Given the description of an element on the screen output the (x, y) to click on. 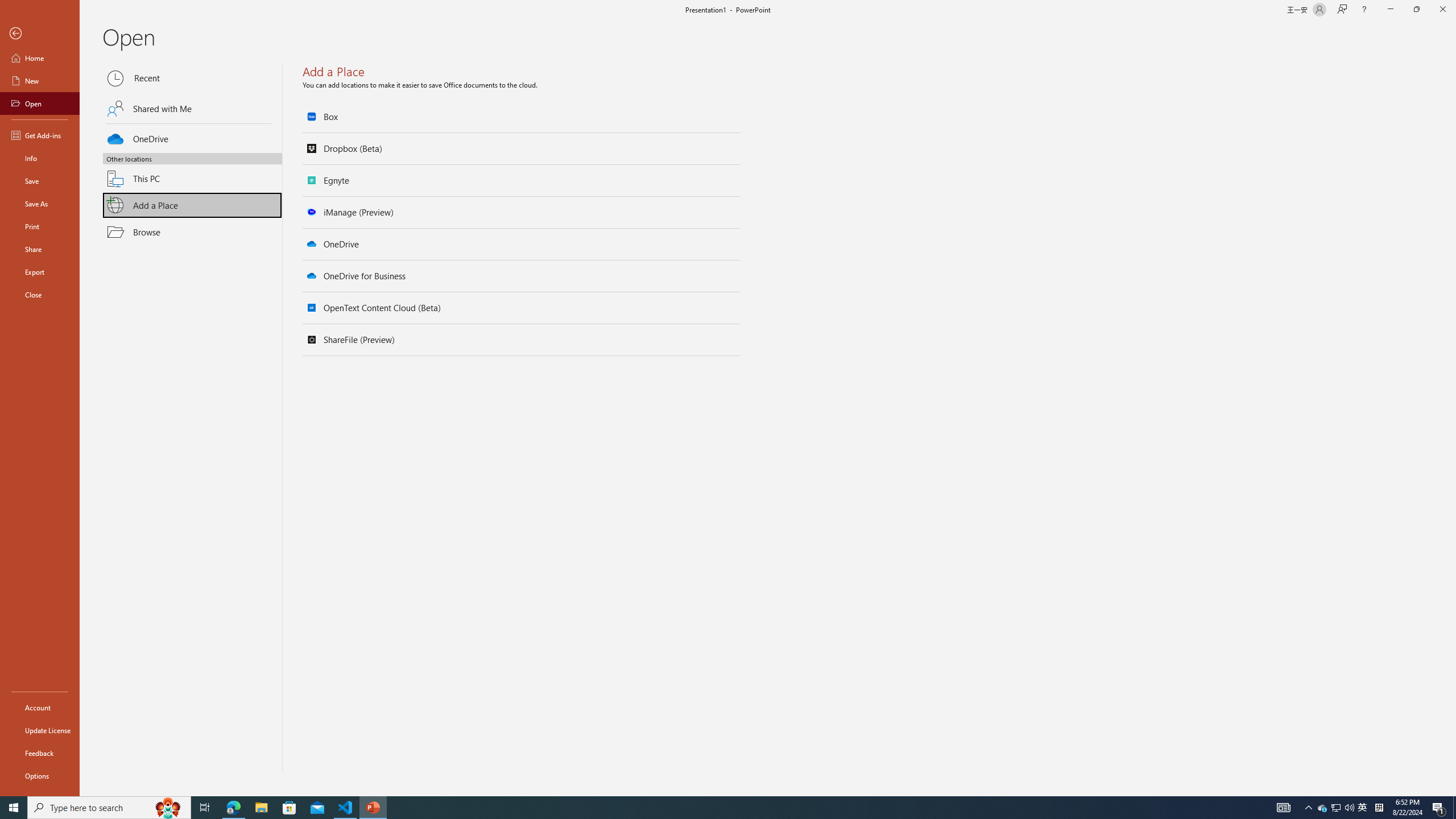
Options (40, 775)
Account (40, 707)
Export (40, 271)
ShareFile (Preview) (521, 340)
Print (40, 225)
